Given the description of an element on the screen output the (x, y) to click on. 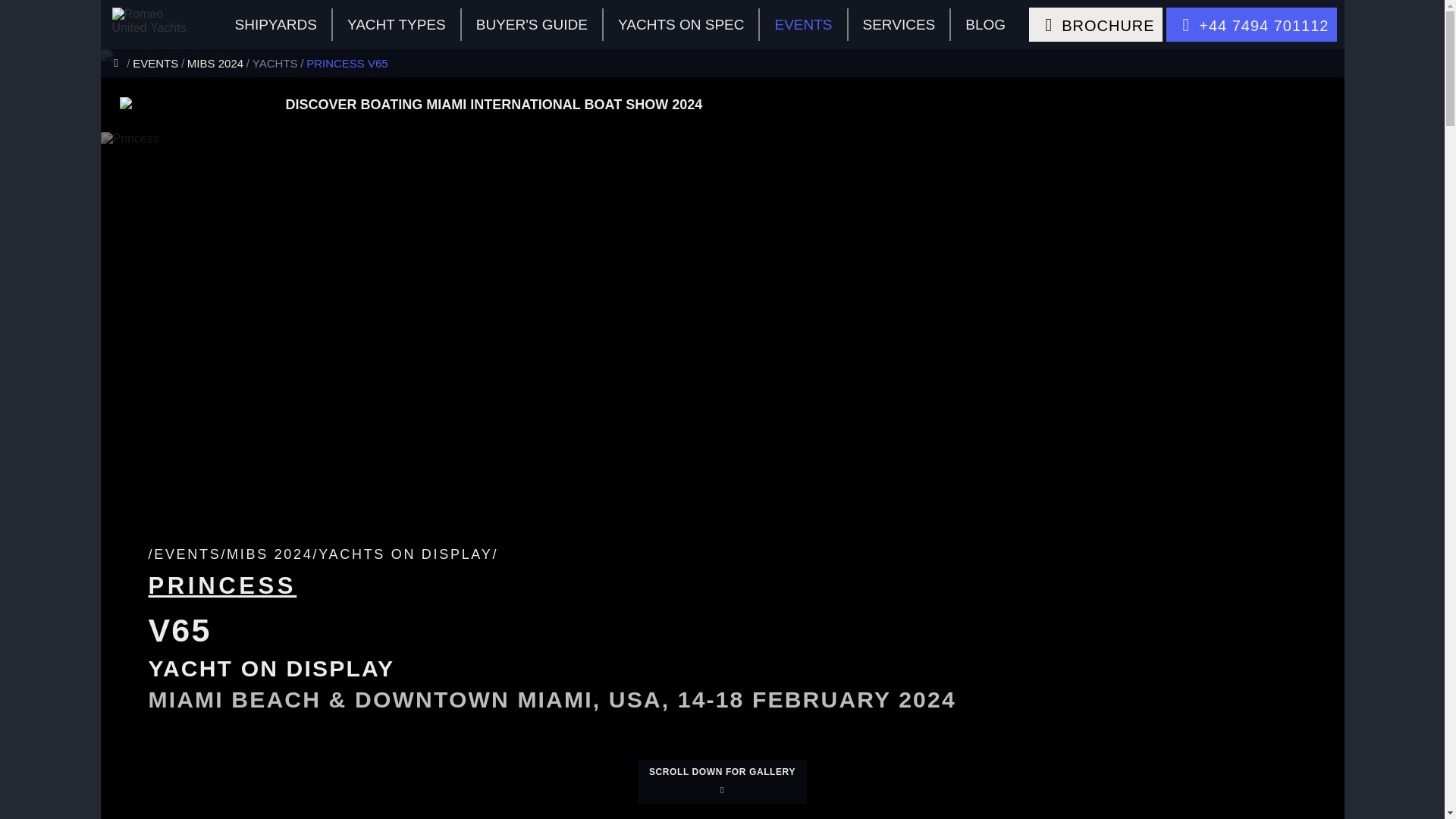
SCROLL DOWN FOR GALLERY (721, 781)
SHIPYARDS (275, 24)
EVENTS (803, 24)
BLOG (985, 24)
SCROLL DOWN FOR GALLERY (721, 781)
MIBS 2024 (219, 62)
PRINCESS (222, 585)
DISCOVER BOATING MIAMI INTERNATIONAL BOAT SHOW 2024 (804, 104)
EVENTS (159, 62)
BUYER'S GUIDE (532, 24)
